Given the description of an element on the screen output the (x, y) to click on. 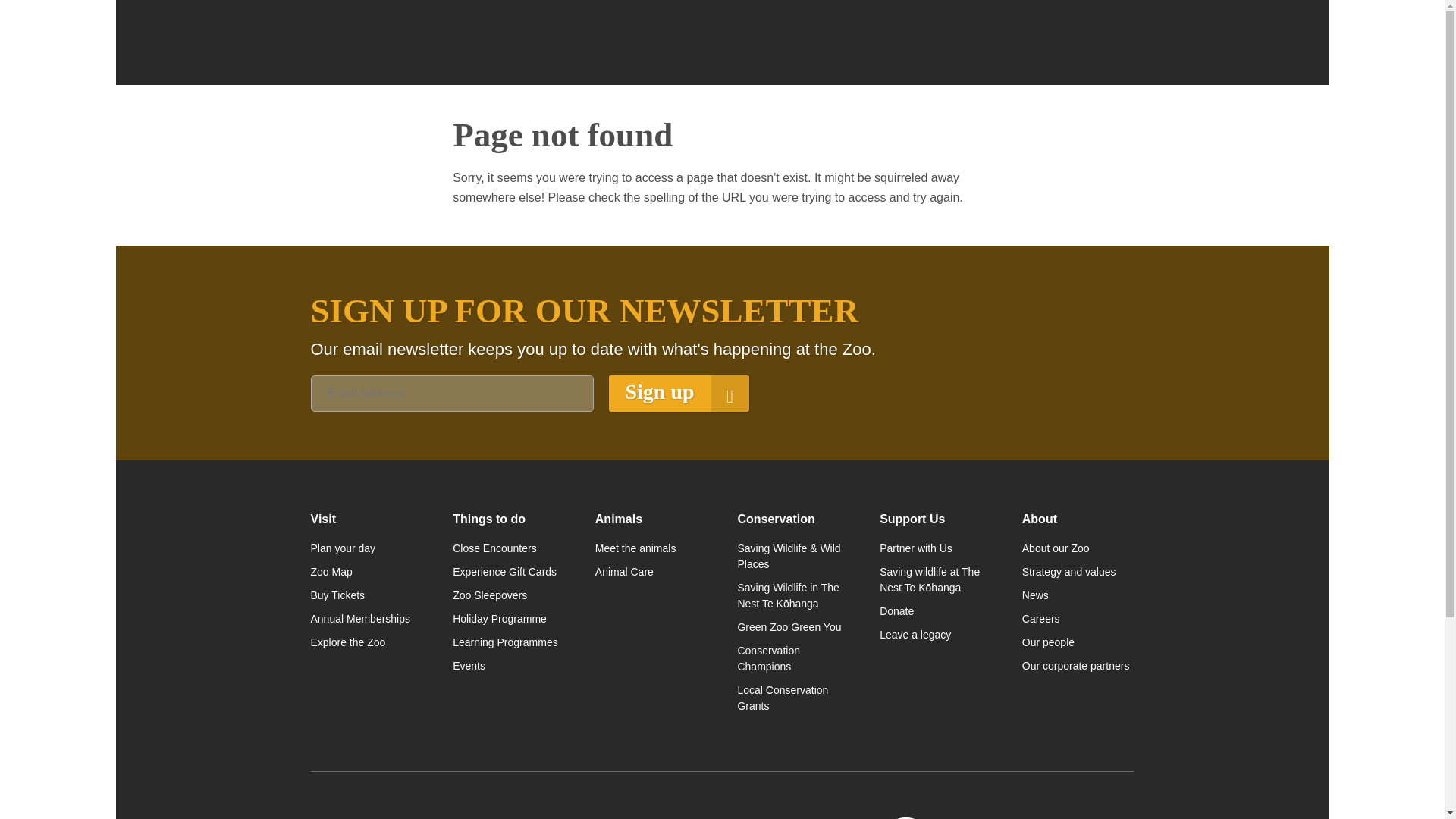
Our people (1078, 642)
Animals (651, 519)
Sign up (678, 393)
Explore the Zoo (367, 642)
Zoo Map (367, 571)
Annual Memberships (367, 618)
Conservation Champions (792, 658)
Things to do (508, 519)
Meet the animals (651, 548)
Donate (935, 611)
